Given the description of an element on the screen output the (x, y) to click on. 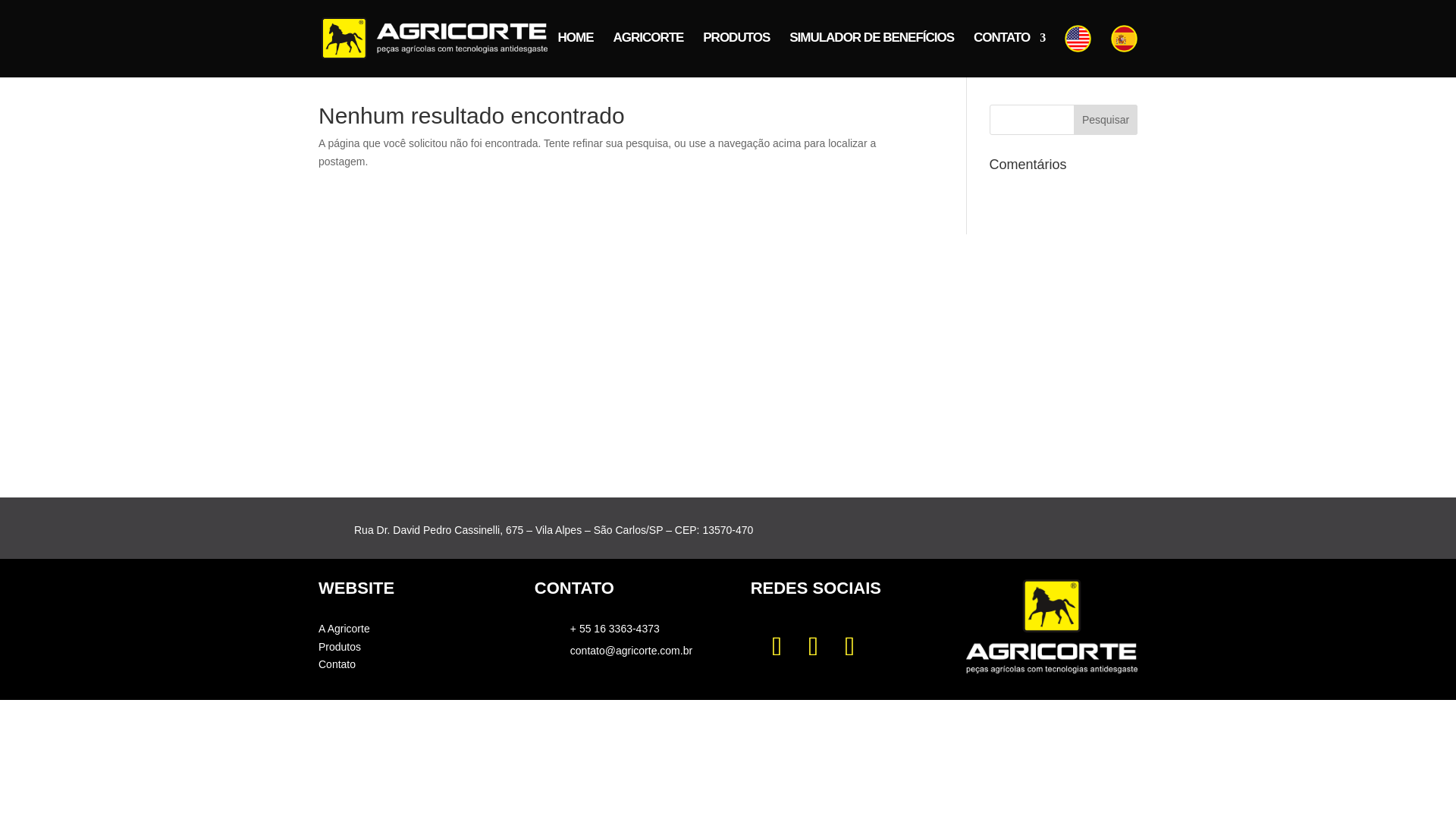
AGRICORTE (647, 49)
Produtos (339, 646)
HOME (574, 49)
A Agricorte (343, 628)
Siga em LinkedIn (850, 646)
Siga em Facebook (813, 646)
Contato (336, 664)
Siga em Instagram (777, 646)
CONTATO (1009, 49)
Pesquisar (1105, 119)
